Given the description of an element on the screen output the (x, y) to click on. 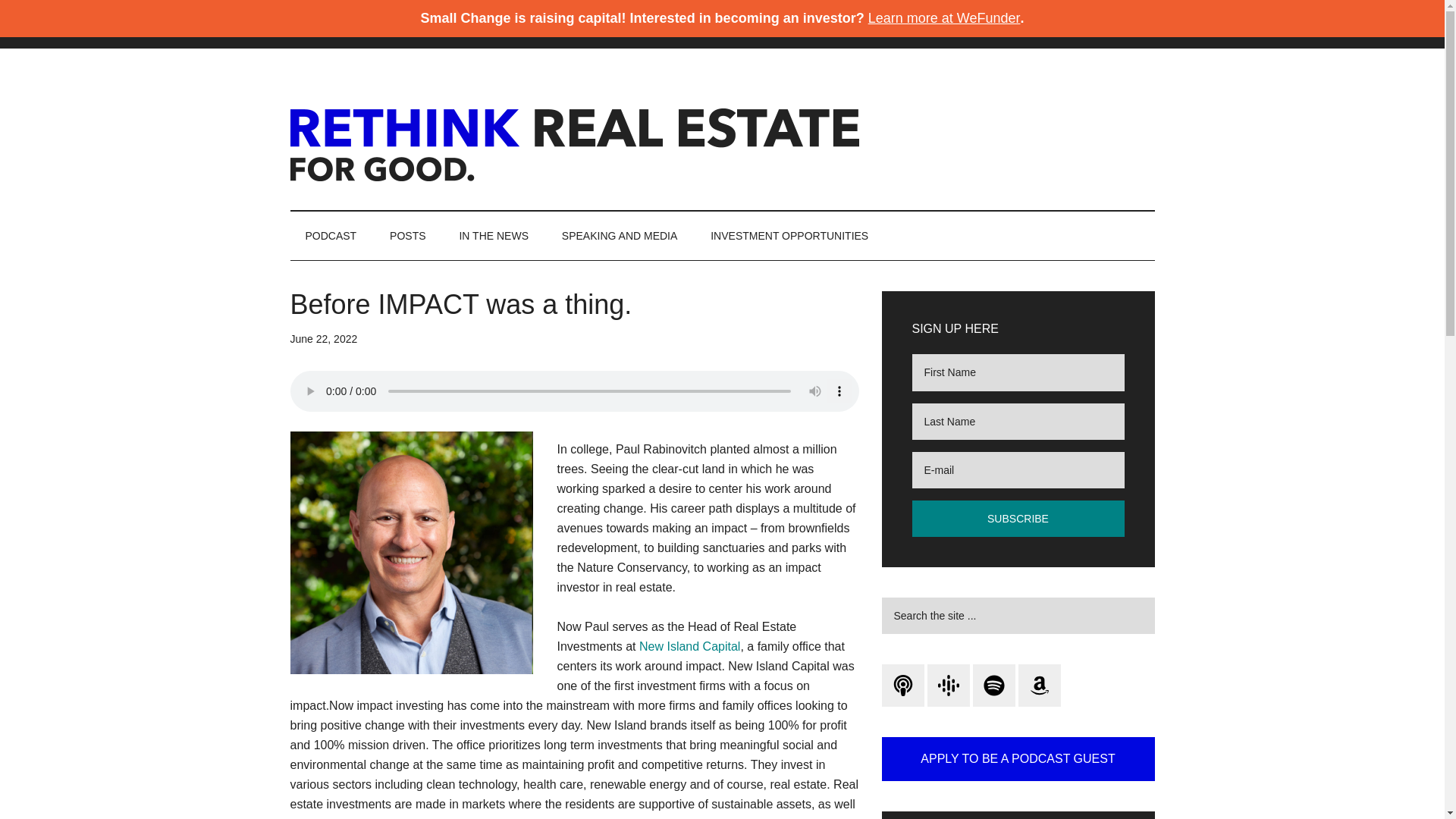
SAY HELLO (486, 24)
INVESTMENT OPPORTUNITIES (789, 235)
subscribe (1017, 518)
New Island Capital (689, 645)
Learn more at WeFunder (943, 17)
POSTS (407, 235)
IN THE NEWS (493, 235)
HOME (320, 24)
APPLY TO BE A PODCAST GUEST (1017, 759)
subscribe (1017, 518)
SPEAKING AND MEDIA (620, 235)
